Given the description of an element on the screen output the (x, y) to click on. 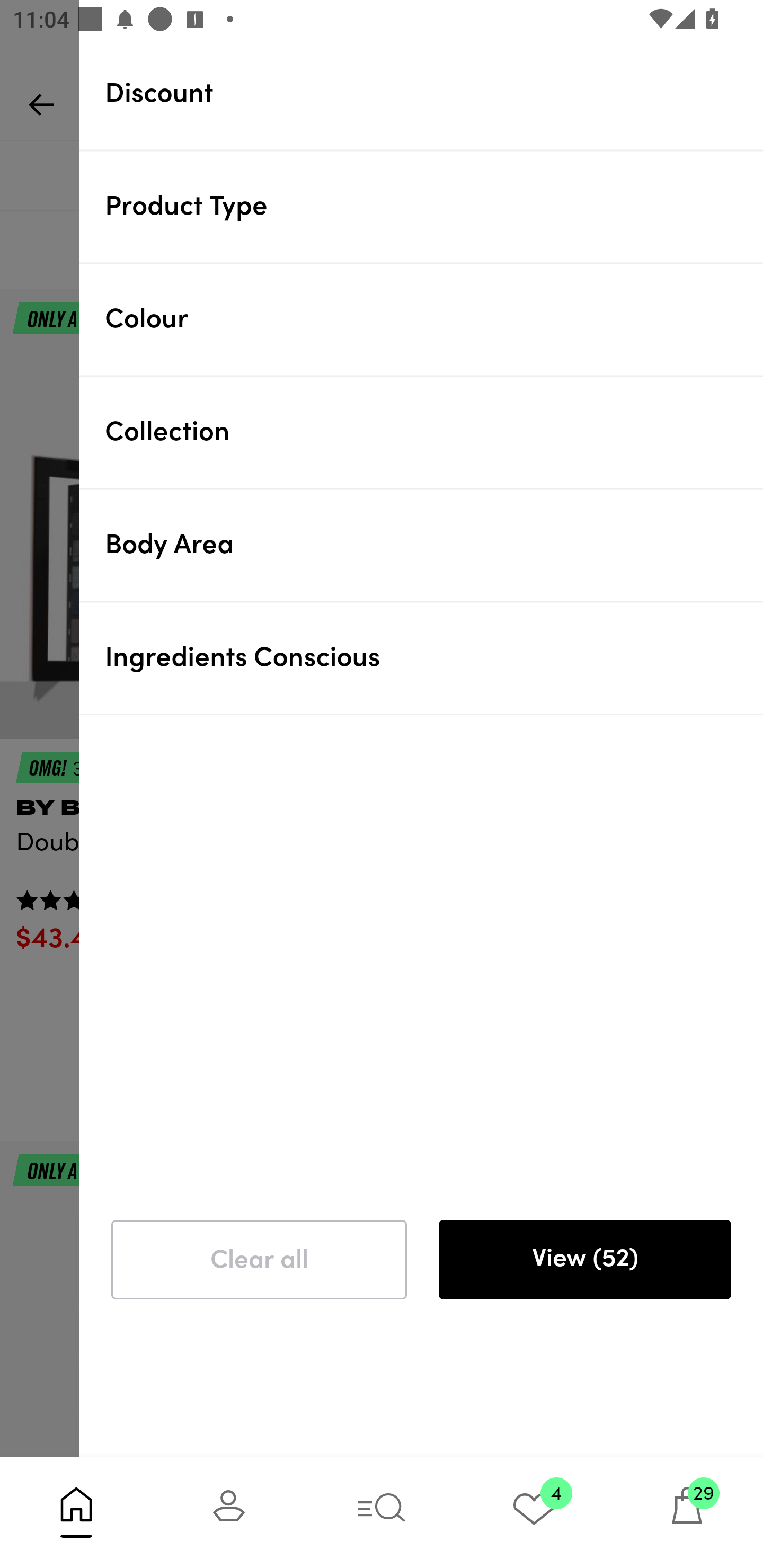
Discount (434, 92)
Product Type (434, 205)
Colour (434, 318)
Collection (434, 431)
Body Area (434, 544)
Ingredients Conscious (434, 657)
Clear all (258, 1259)
View (52) (584, 1259)
4 (533, 1512)
29 (686, 1512)
